Given the description of an element on the screen output the (x, y) to click on. 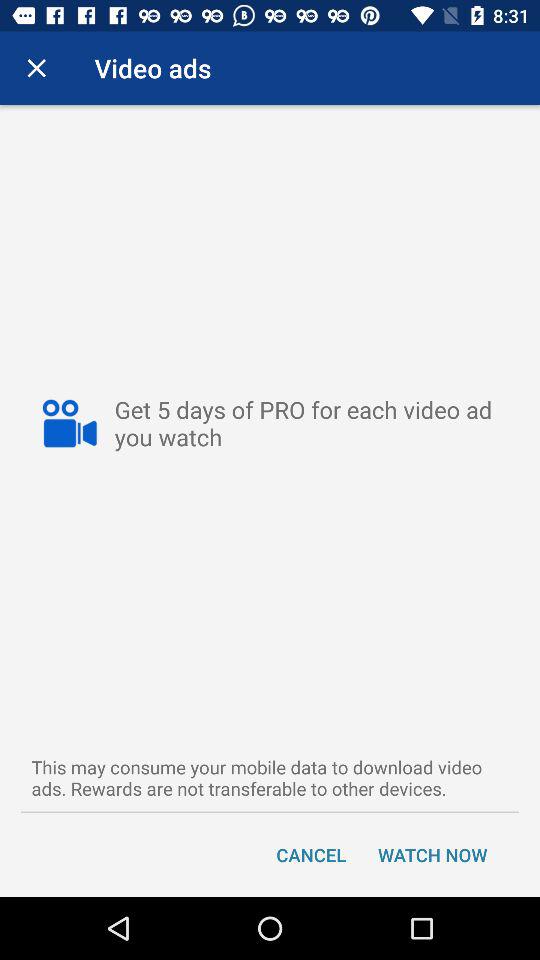
press cancel (311, 854)
